Given the description of an element on the screen output the (x, y) to click on. 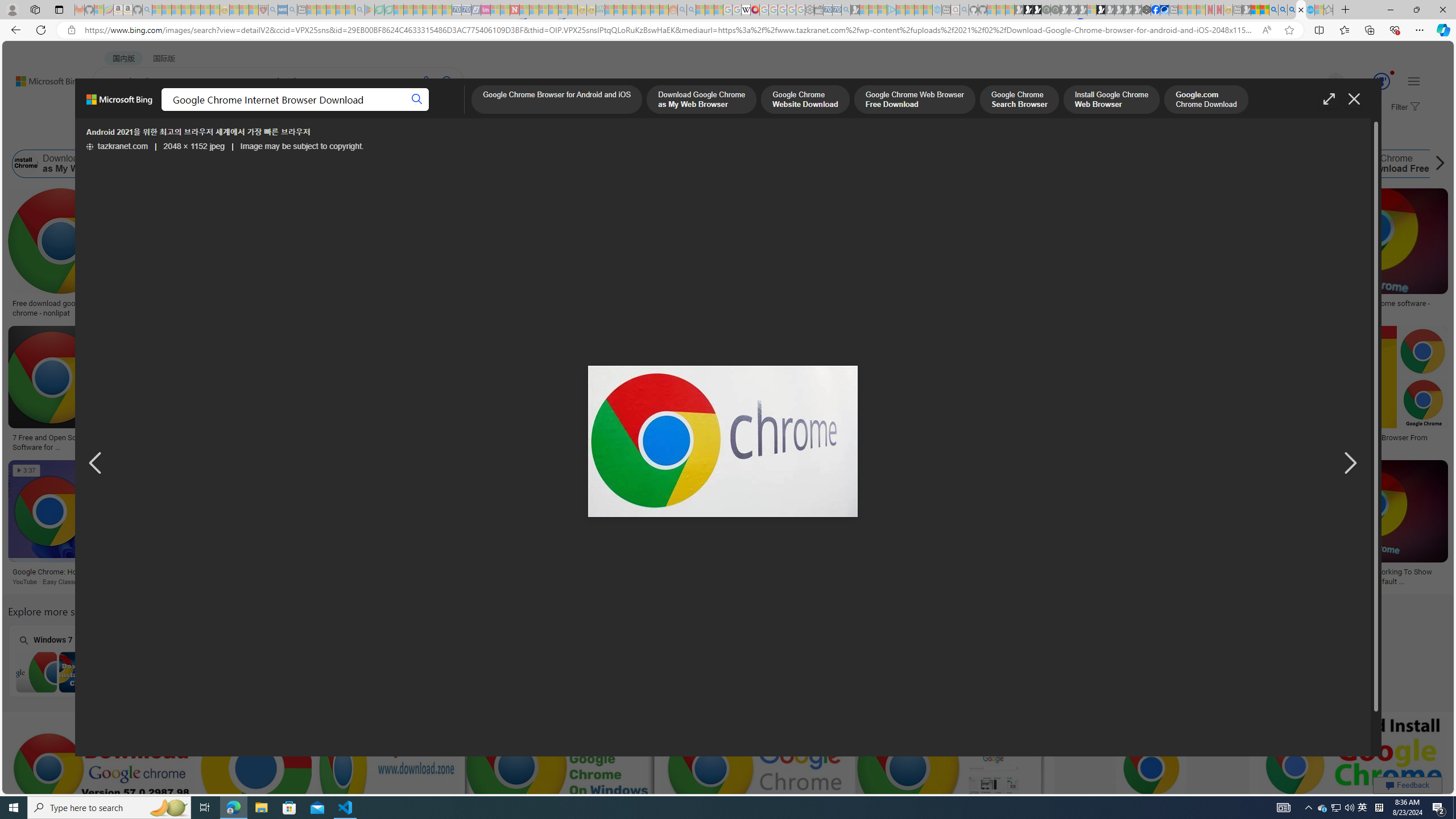
How to update google chrome software - angelbap (1368, 307)
Apk for PC Windows 10 (661, 660)
What Is The Fastest Browser To Use With Windows 10 (1034, 576)
How to download & install Chrome on Windows 10 /11 (997, 303)
Windows 10 64-Bit (370, 660)
How to update google chrome software - angelbap (1368, 307)
utah sues federal government - Search - Sleeping (291, 9)
